Given the description of an element on the screen output the (x, y) to click on. 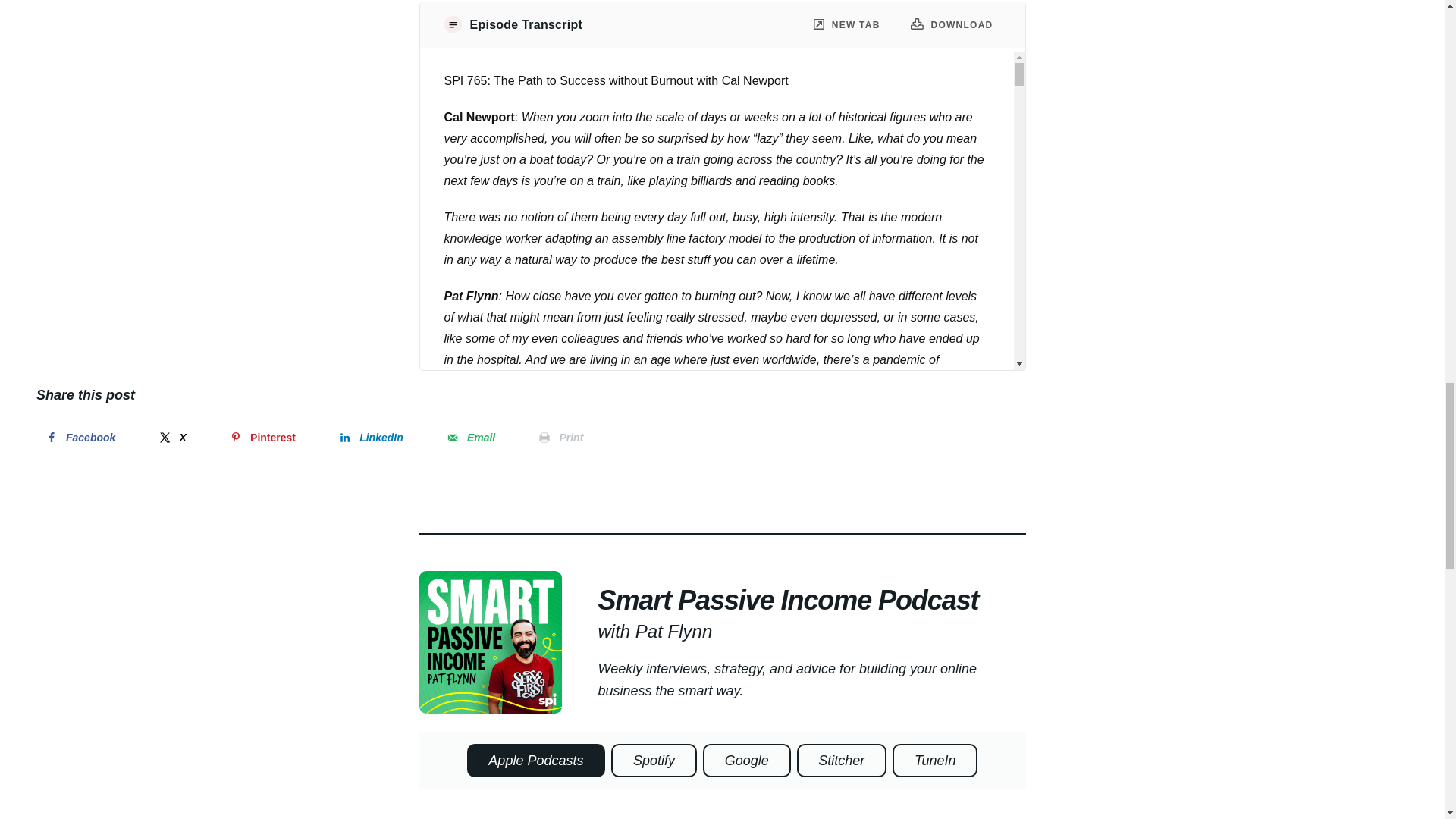
DOWNLOAD (951, 24)
Facebook (79, 437)
X (171, 437)
Share on X (171, 437)
Share on Facebook (79, 437)
Send over email (470, 437)
Share on LinkedIn (370, 437)
NEW TAB (847, 25)
Save to Pinterest (261, 437)
Print this webpage (559, 437)
